Given the description of an element on the screen output the (x, y) to click on. 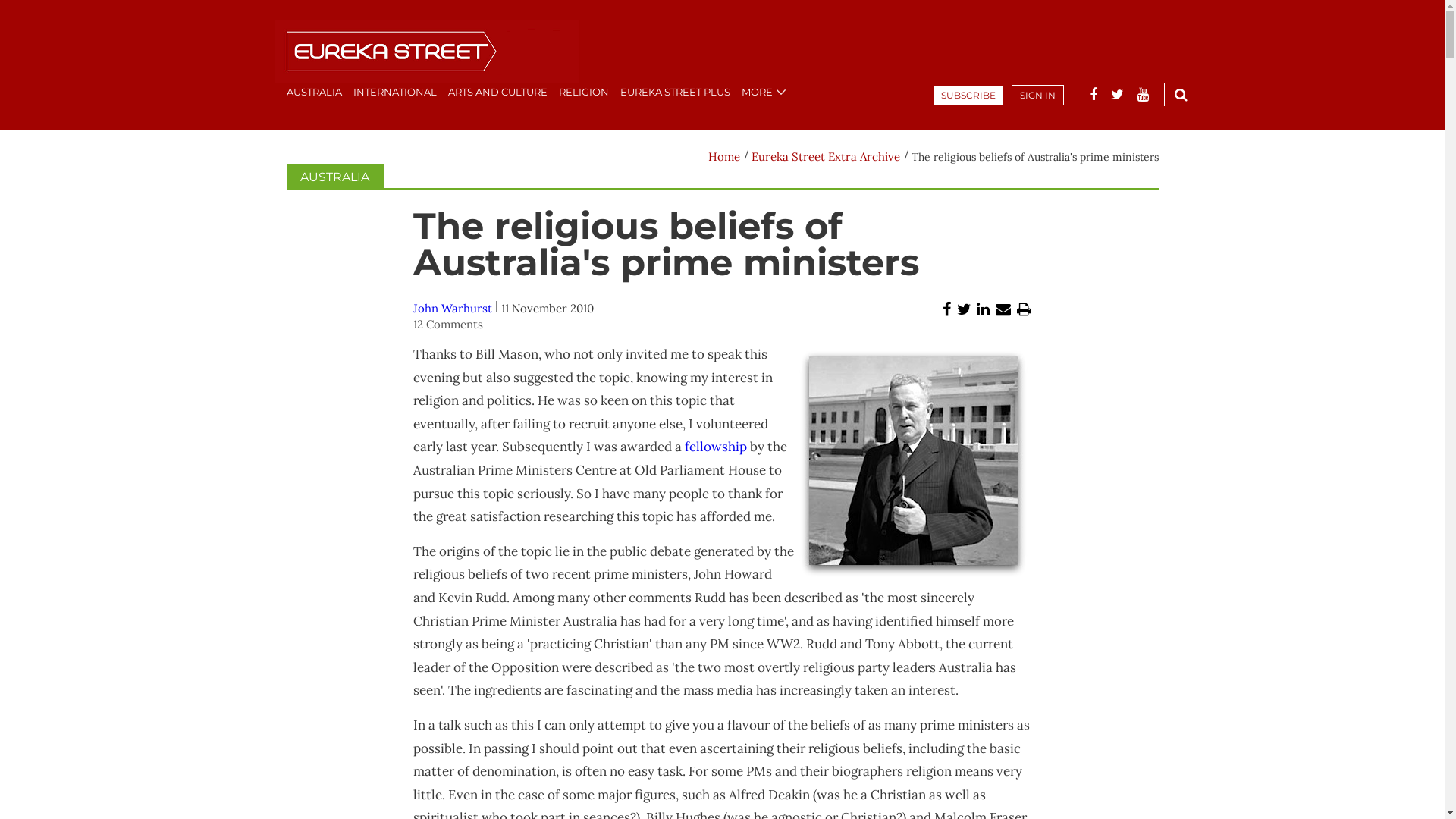
Facebook Element type: hover (946, 309)
EUREKA STREET PLUS Element type: text (675, 91)
Home Element type: text (724, 156)
fellowship Element type: text (715, 446)
Email Element type: hover (1002, 309)
AUSTRALIA Element type: text (334, 176)
Ben Chifley Element type: hover (913, 463)
Eureka Street Element type: hover (425, 52)
Twitter Element type: hover (964, 309)
INTERNATIONAL Element type: text (394, 91)
Youtube Element type: hover (1142, 94)
MORE Element type: text (756, 91)
SIGN IN Element type: text (1037, 94)
Facebook Element type: hover (1092, 94)
Twitter Element type: hover (1116, 94)
John Warhurst Element type: text (452, 308)
SUBSCRIBE Element type: text (968, 94)
GO Element type: text (1180, 93)
RELIGION Element type: text (583, 91)
ARTS AND CULTURE Element type: text (496, 91)
Eureka Street Extra Archive Element type: text (825, 156)
Print Element type: hover (1023, 309)
LinkedIn Element type: hover (982, 309)
AUSTRALIA Element type: text (314, 91)
